Given the description of an element on the screen output the (x, y) to click on. 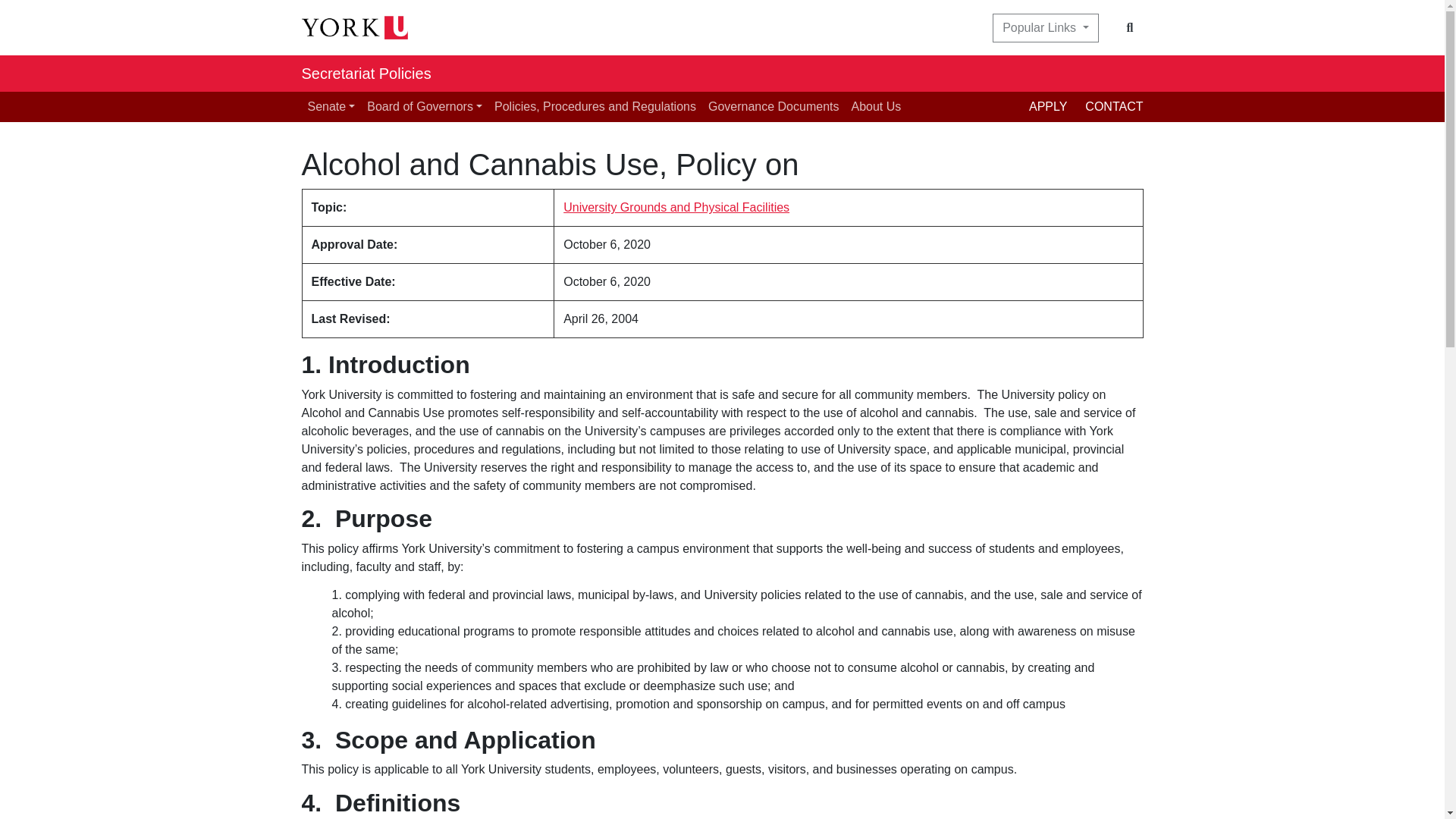
About Us (875, 106)
Governance Documents (773, 106)
University Grounds and Physical Facilities (676, 206)
Board of Governors (424, 106)
CONTACT (1113, 106)
Senate (331, 106)
Policies, Procedures and Regulations (594, 106)
Popular Links (1044, 27)
Secretariat Policies (365, 73)
APPLY (1056, 106)
